Given the description of an element on the screen output the (x, y) to click on. 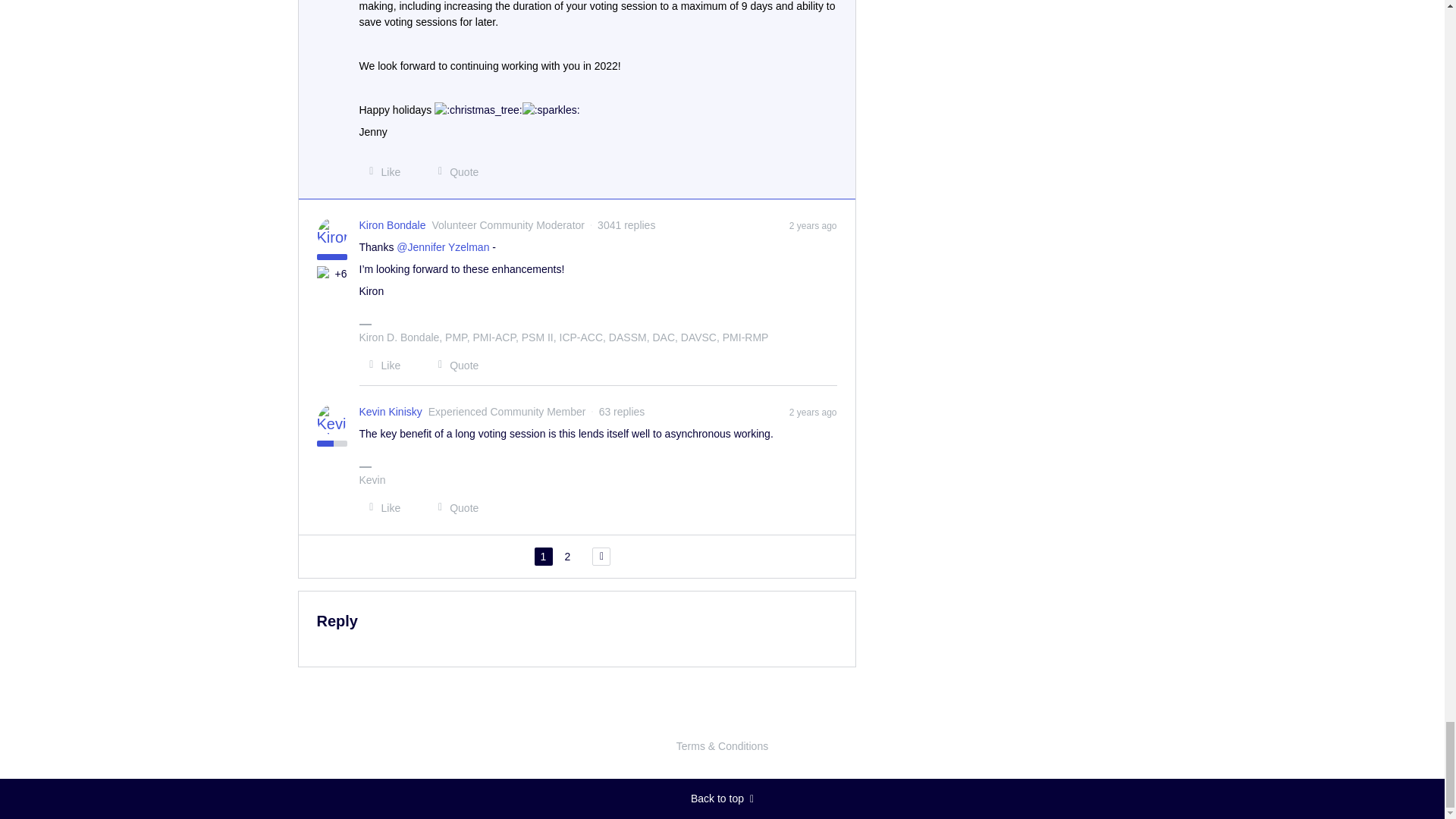
Back to top (722, 798)
